Given the description of an element on the screen output the (x, y) to click on. 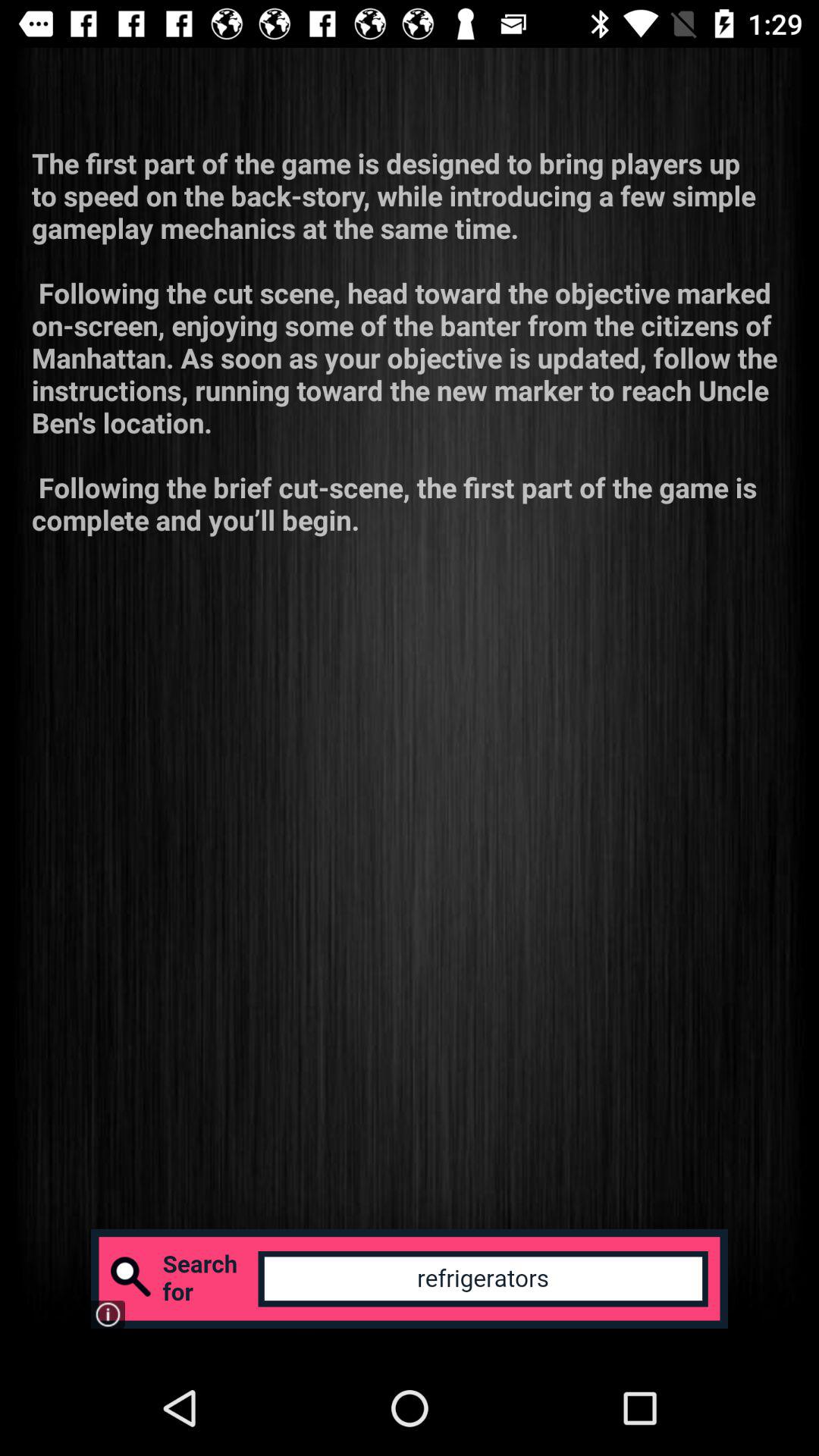
click to search option (409, 1278)
